Given the description of an element on the screen output the (x, y) to click on. 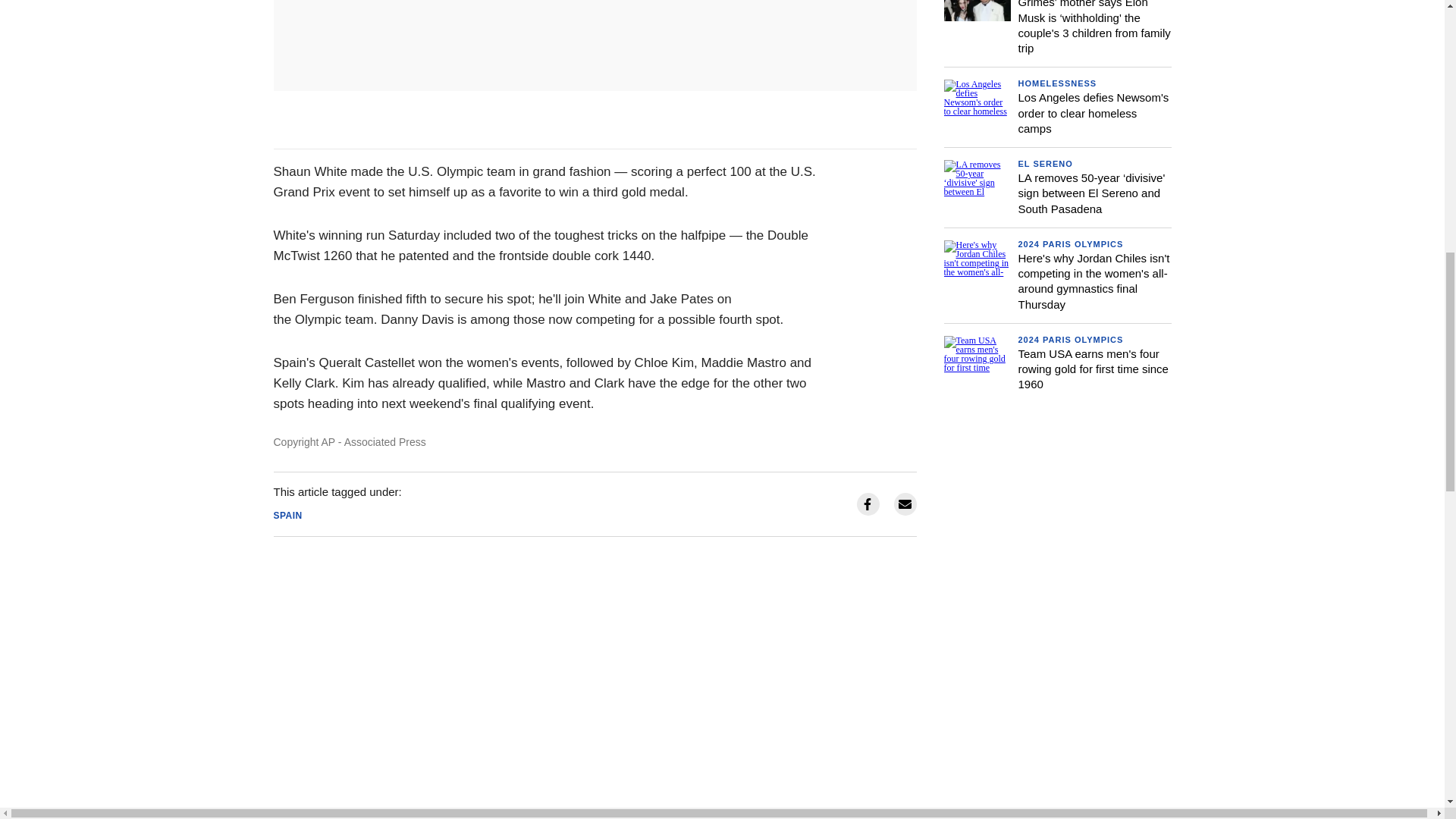
HOMELESSNESS (1056, 82)
EL SERENO (1044, 163)
Los Angeles defies Newsom's order to clear homeless camps (1093, 112)
SPAIN (287, 515)
